Given the description of an element on the screen output the (x, y) to click on. 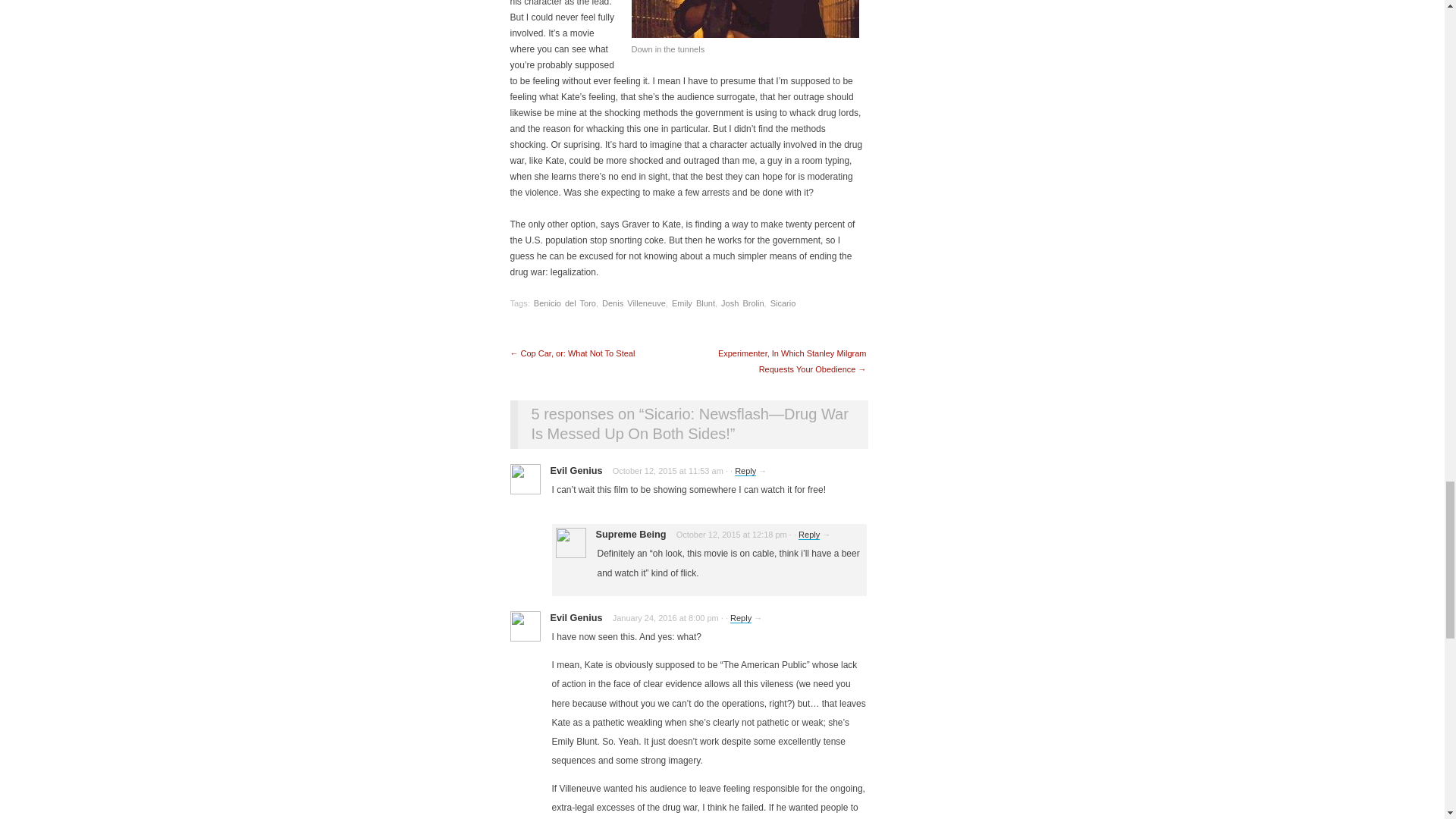
Benicio del Toro (564, 302)
Reply (745, 470)
Sicario (783, 302)
Denis Villeneuve (633, 302)
Emily Blunt (692, 302)
Reply (808, 534)
October 12, 2015 at 12:18 pm (732, 533)
Josh Brolin (741, 302)
October 12, 2015 at 11:53 am (667, 470)
Reply (740, 618)
